Given the description of an element on the screen output the (x, y) to click on. 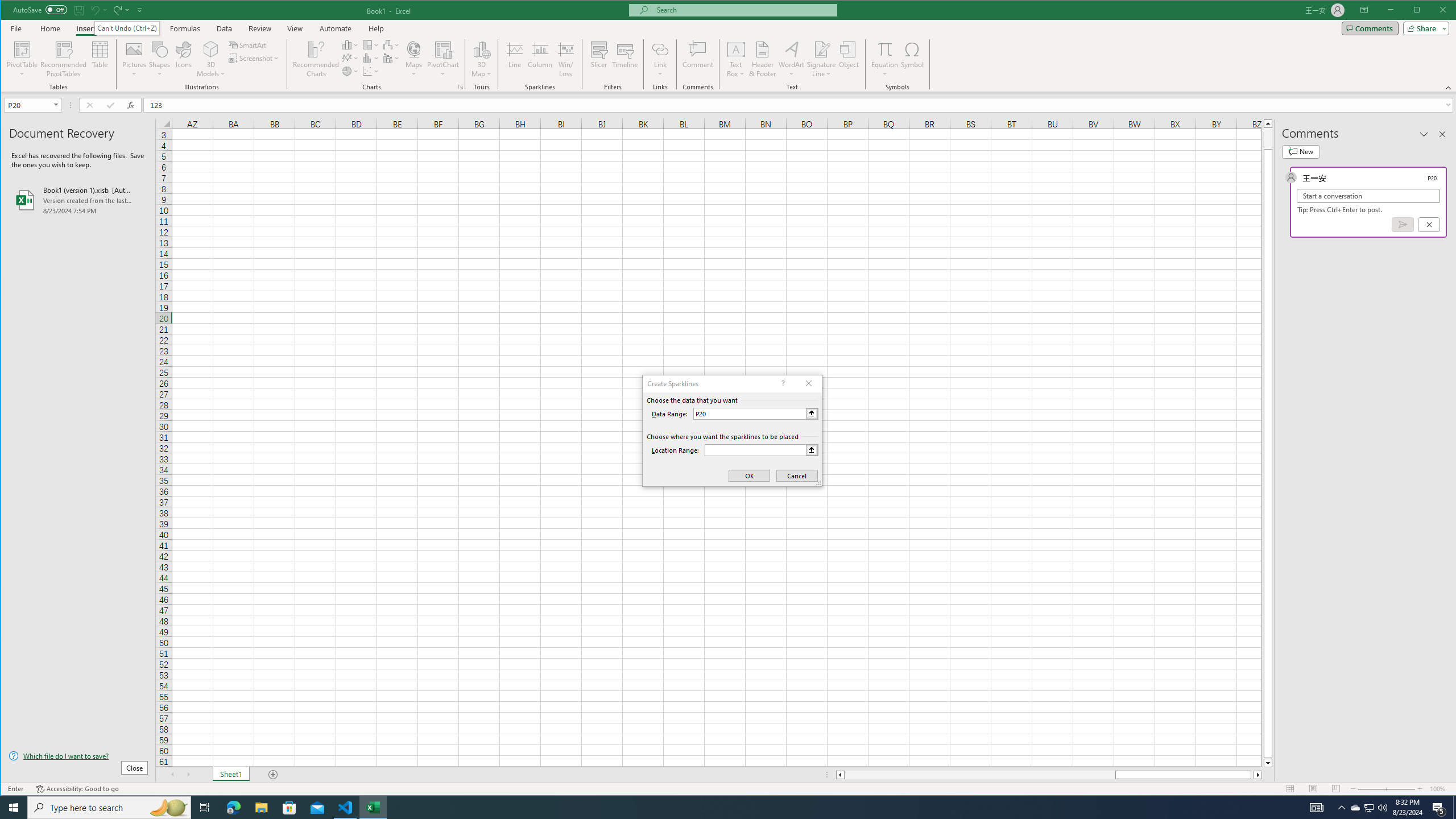
New comment (1300, 151)
Recommended Charts (460, 86)
